Given the description of an element on the screen output the (x, y) to click on. 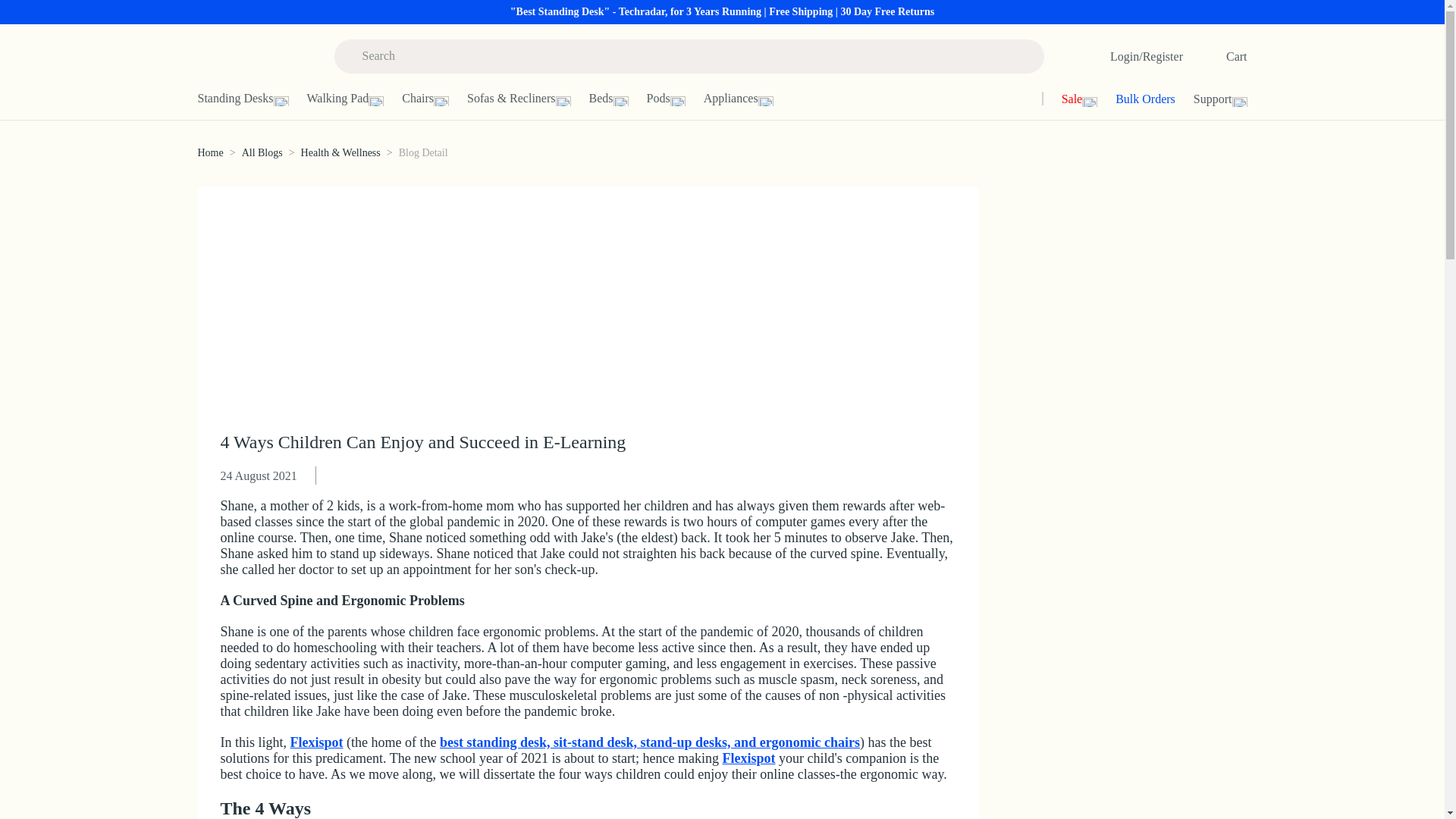
Cart (1219, 55)
Sale (1070, 98)
Beds (617, 98)
Support (1202, 98)
Home (209, 152)
Chairs (434, 98)
Appliances (747, 98)
Bulk Orders (1135, 98)
All Blogs (261, 152)
